Given the description of an element on the screen output the (x, y) to click on. 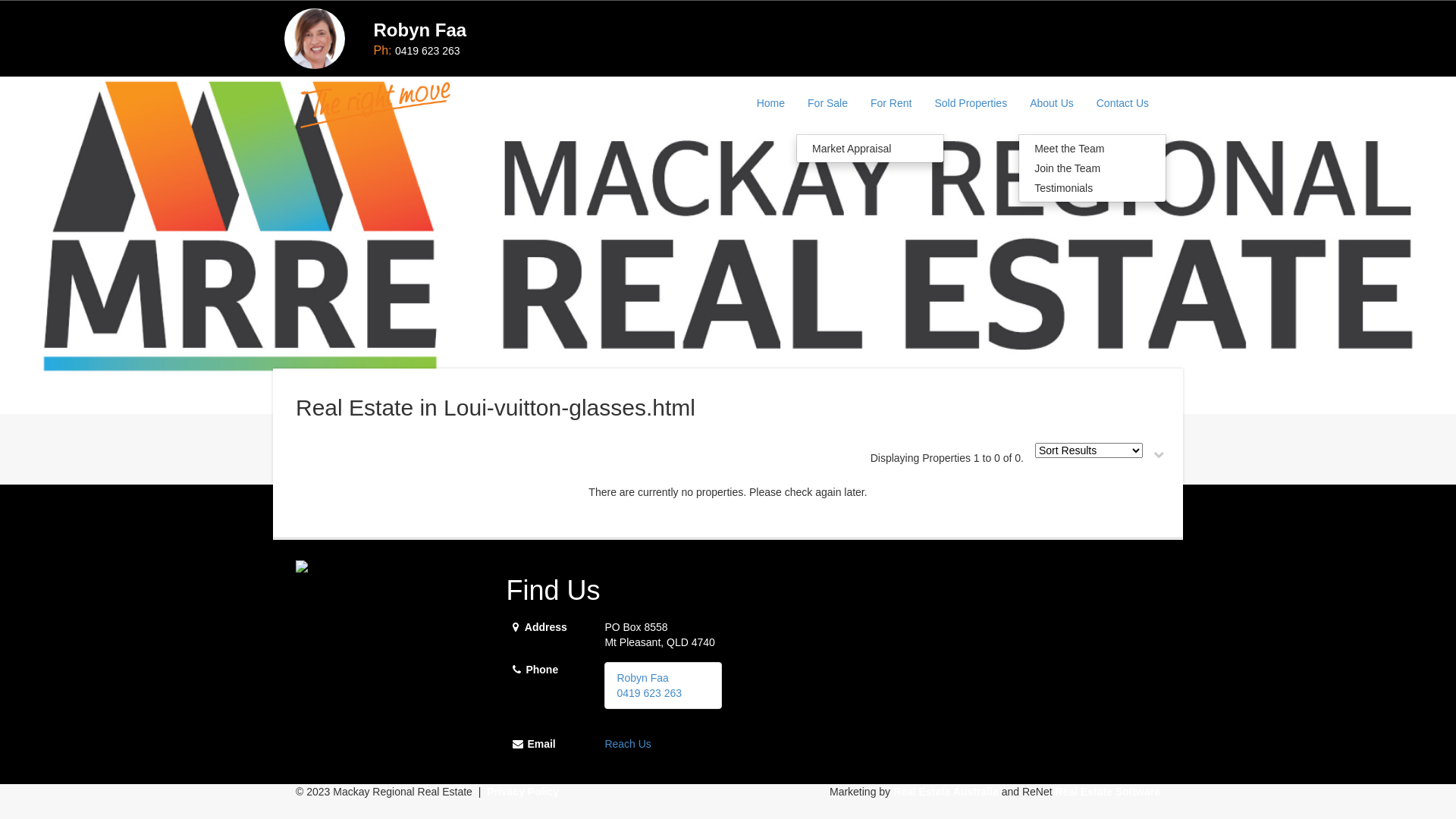
Robyn Faa
0419 623 263 Element type: text (648, 685)
Sold Properties Element type: text (970, 103)
Sales Enquiry Element type: text (465, 7)
Sales: 0419 623 263 Element type: text (380, 7)
Real Estate Software Element type: text (1108, 791)
Real Estate Australia Element type: text (945, 791)
Contact Us Element type: text (1122, 103)
For Rent Element type: text (890, 103)
Join the Team Element type: text (1092, 168)
Home Element type: text (770, 103)
About Us Element type: text (1051, 103)
Meet the Team Element type: text (1092, 148)
Market Appraisal Element type: text (870, 148)
Testimonials Element type: text (1092, 187)
0419 623 263 Element type: text (427, 50)
For Sale Element type: text (827, 103)
Reach Us Element type: text (627, 743)
Privacy Policy Element type: text (522, 791)
